Given the description of an element on the screen output the (x, y) to click on. 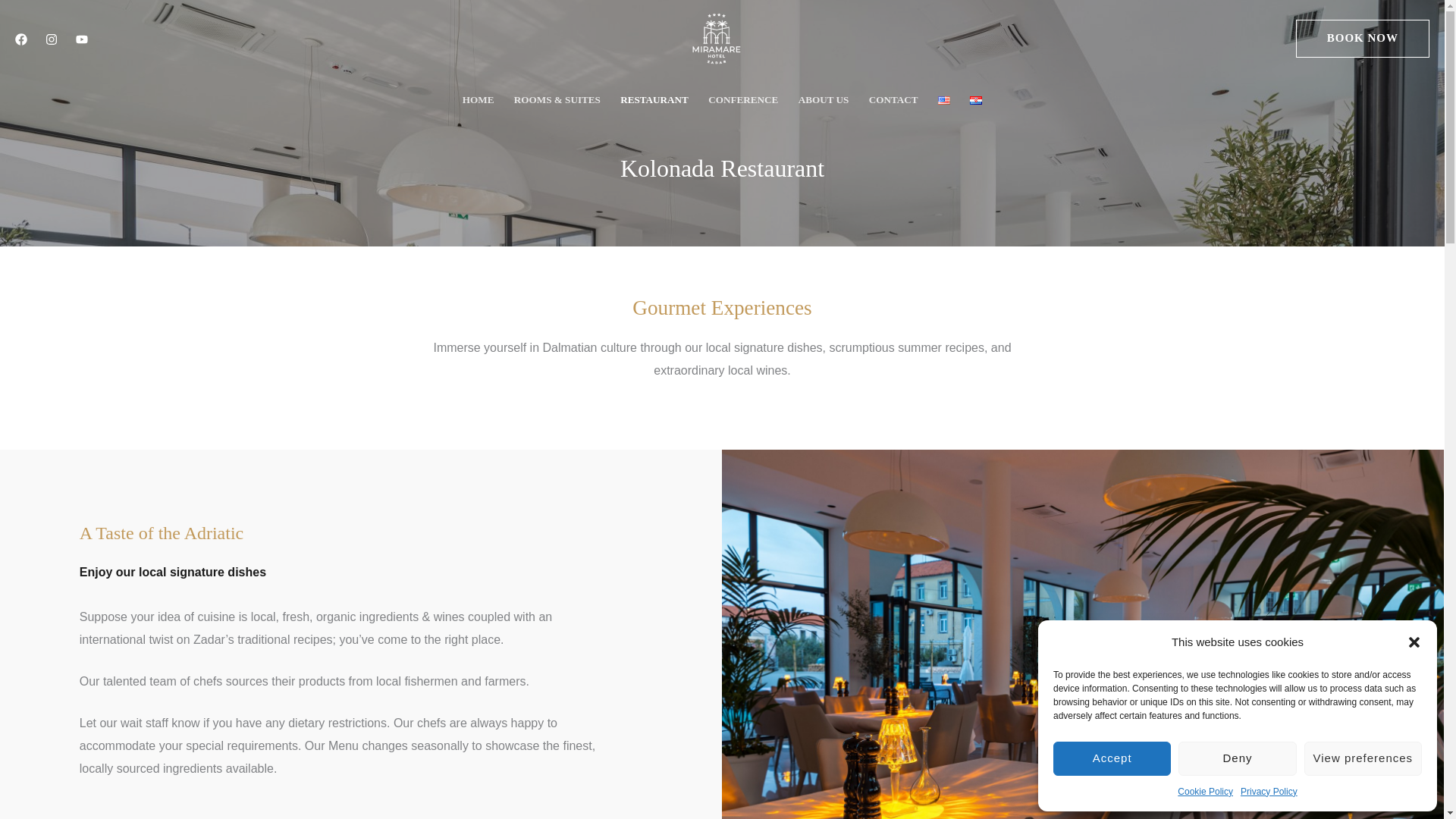
HOME (477, 99)
RESTAURANT (654, 99)
CONFERENCE (742, 99)
CONTACT (893, 99)
BOOK NOW (1362, 38)
Deny (1236, 758)
Privacy Policy (1268, 791)
View preferences (1363, 758)
ABOUT US (824, 99)
Accept (1111, 758)
